Given the description of an element on the screen output the (x, y) to click on. 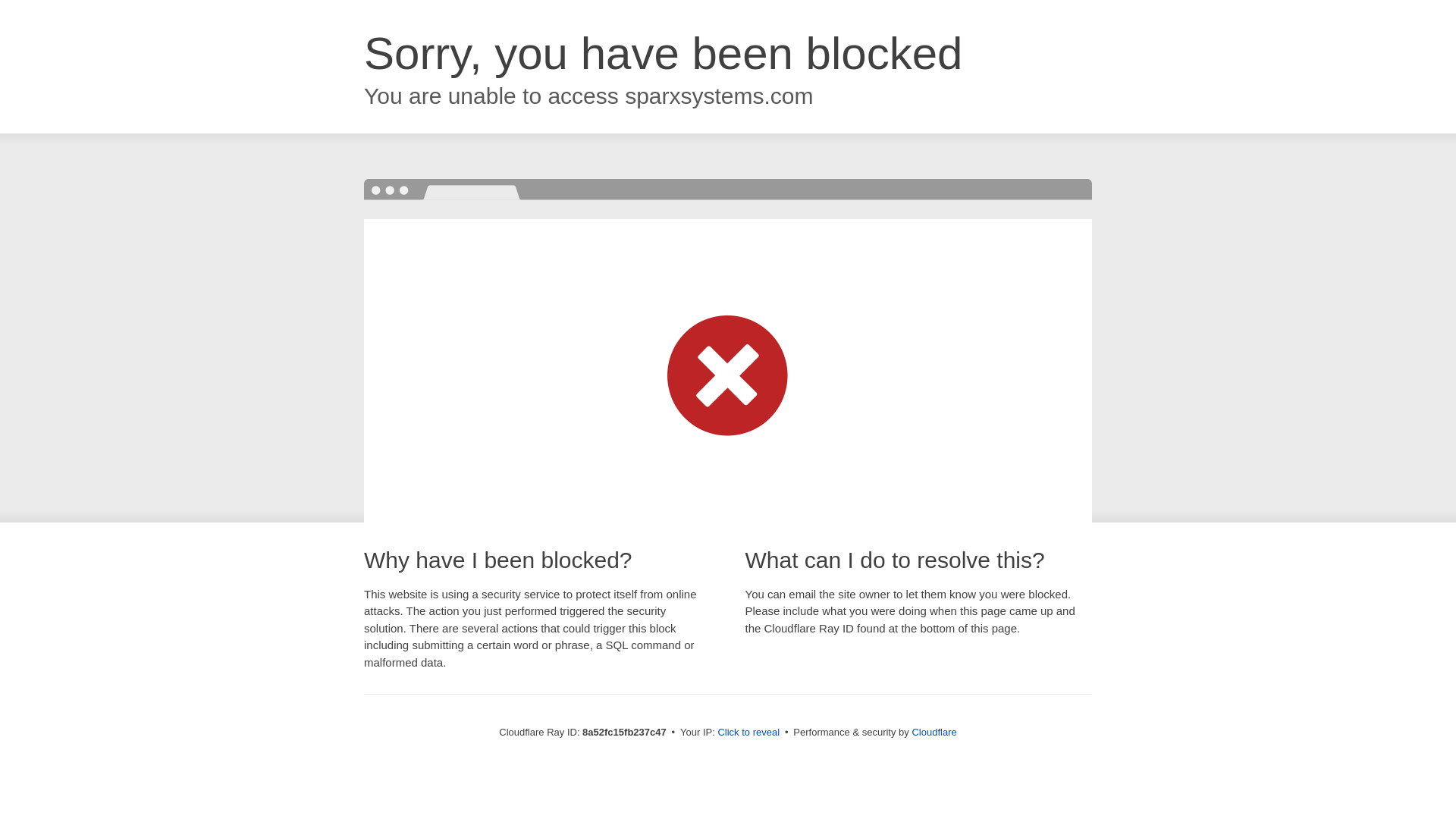
Cloudflare (933, 731)
Click to reveal (747, 732)
